Given the description of an element on the screen output the (x, y) to click on. 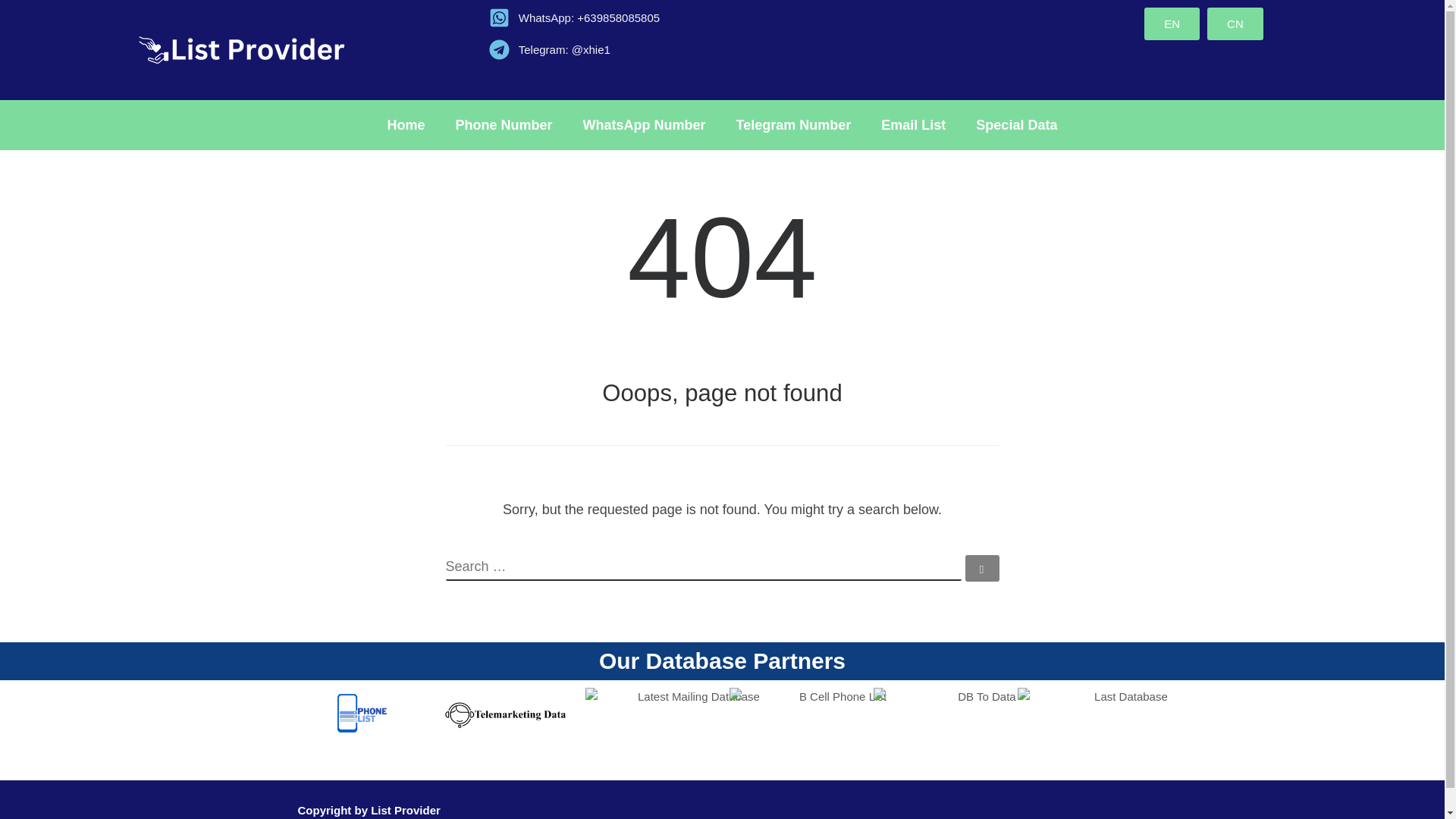
EN (1171, 23)
Telegram Number (793, 124)
CN (1235, 23)
Phone Number (504, 124)
List Provider (406, 809)
WhatsApp Number (643, 124)
Email List (913, 124)
Special Data (1015, 124)
Home (406, 124)
